Given the description of an element on the screen output the (x, y) to click on. 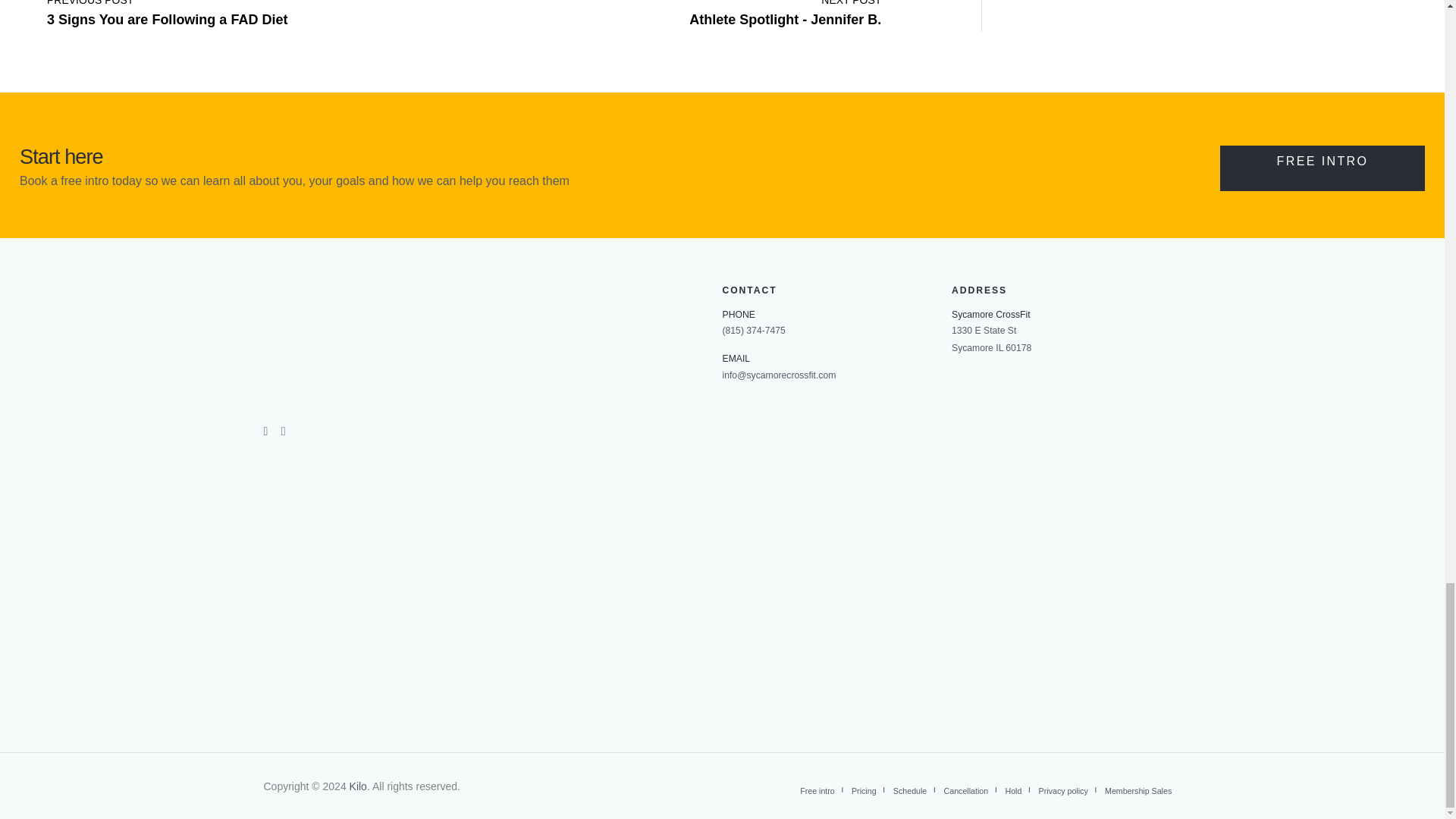
Follow us on instagram (266, 429)
FREE INTRO (1322, 167)
3 Signs You are Following a FAD Diet (166, 10)
Athlete Spotlight - Jennifer B. (784, 10)
Follow us on facebook (166, 10)
